Given the description of an element on the screen output the (x, y) to click on. 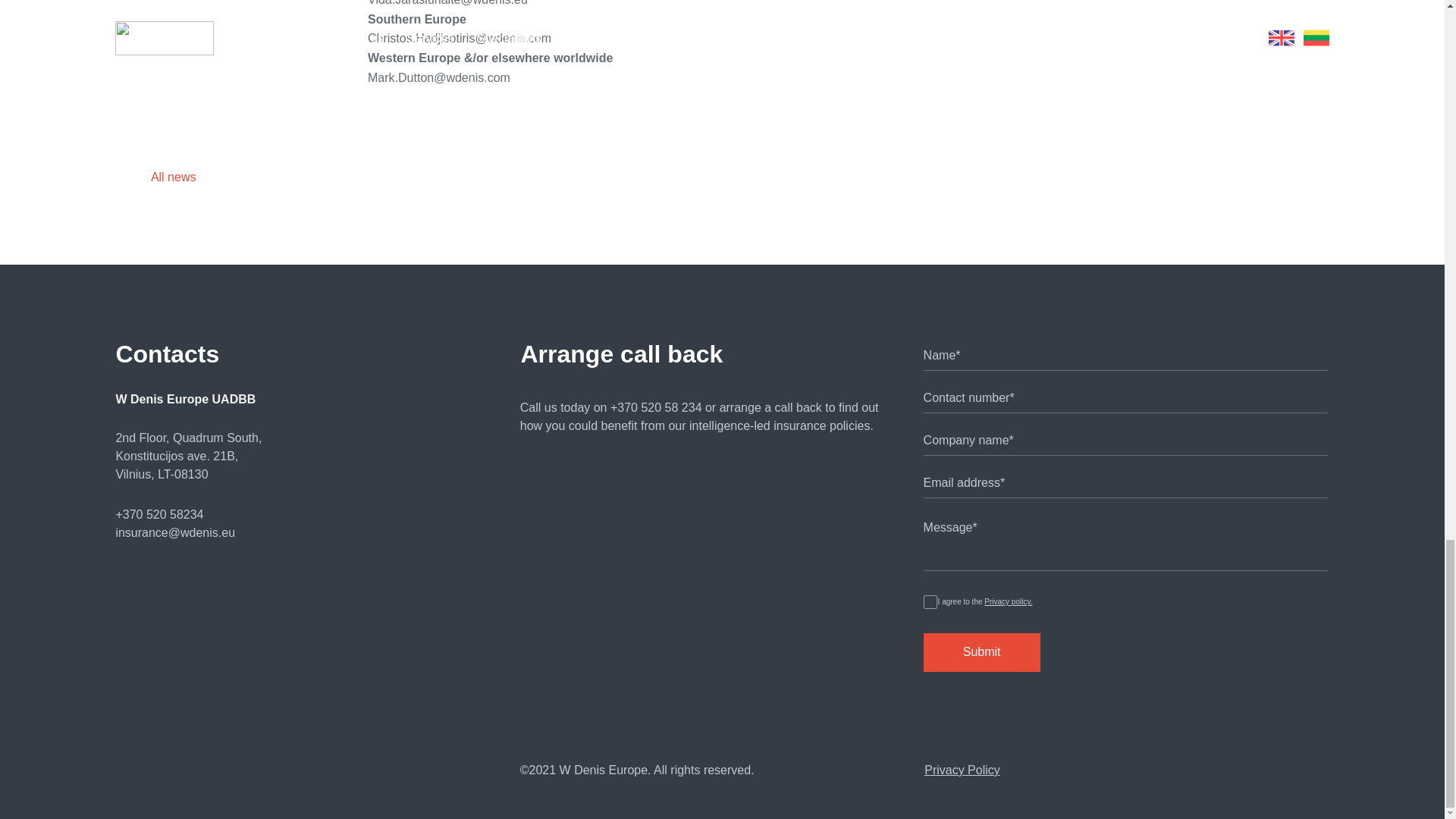
Privacy Policy (962, 769)
All news (189, 177)
Submit (982, 651)
Privacy policy. (1007, 601)
